Given the description of an element on the screen output the (x, y) to click on. 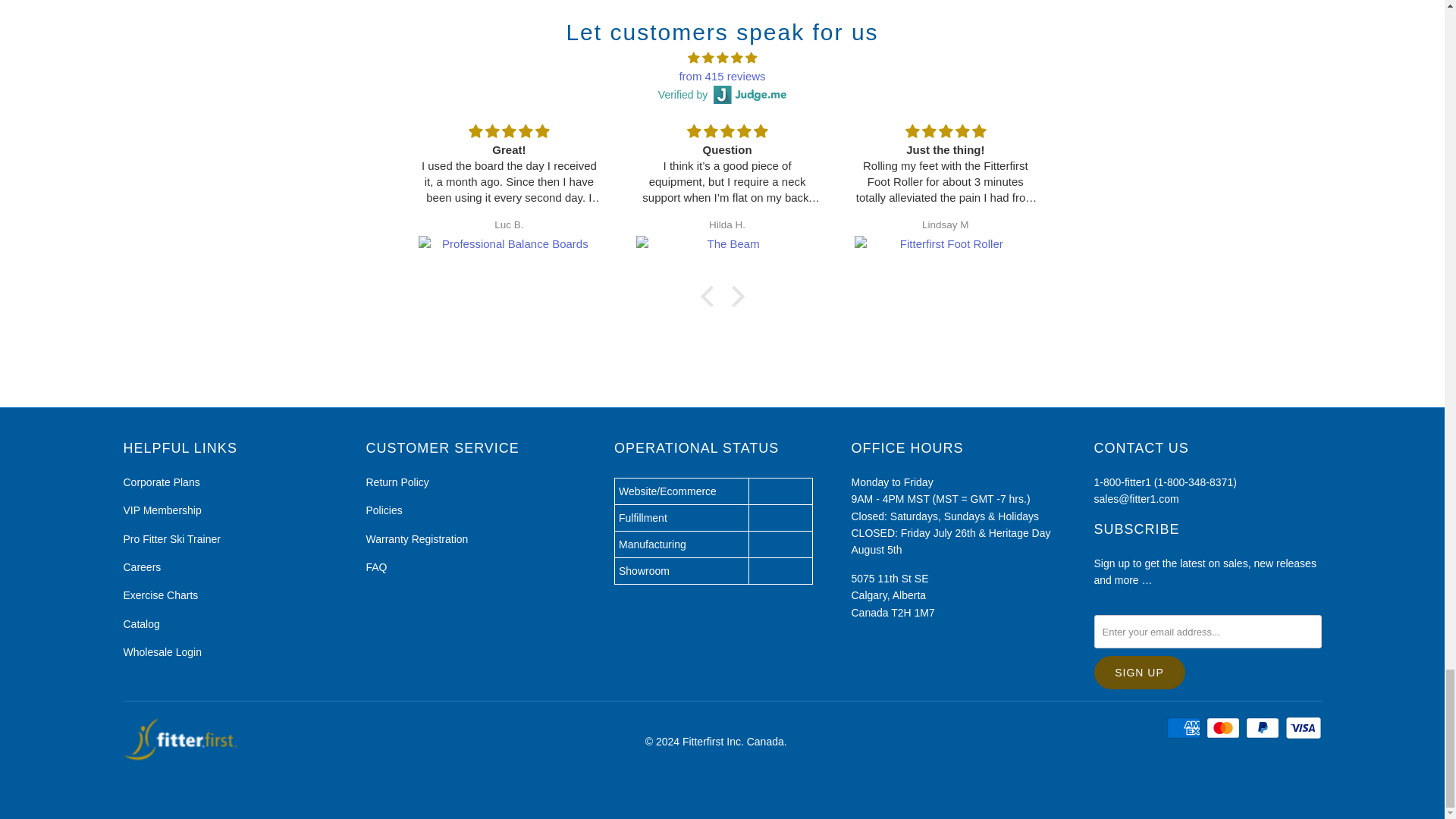
Mastercard (1225, 727)
Visa (1303, 727)
American Express (1185, 727)
PayPal (1264, 727)
Sign Up (1139, 672)
